Given the description of an element on the screen output the (x, y) to click on. 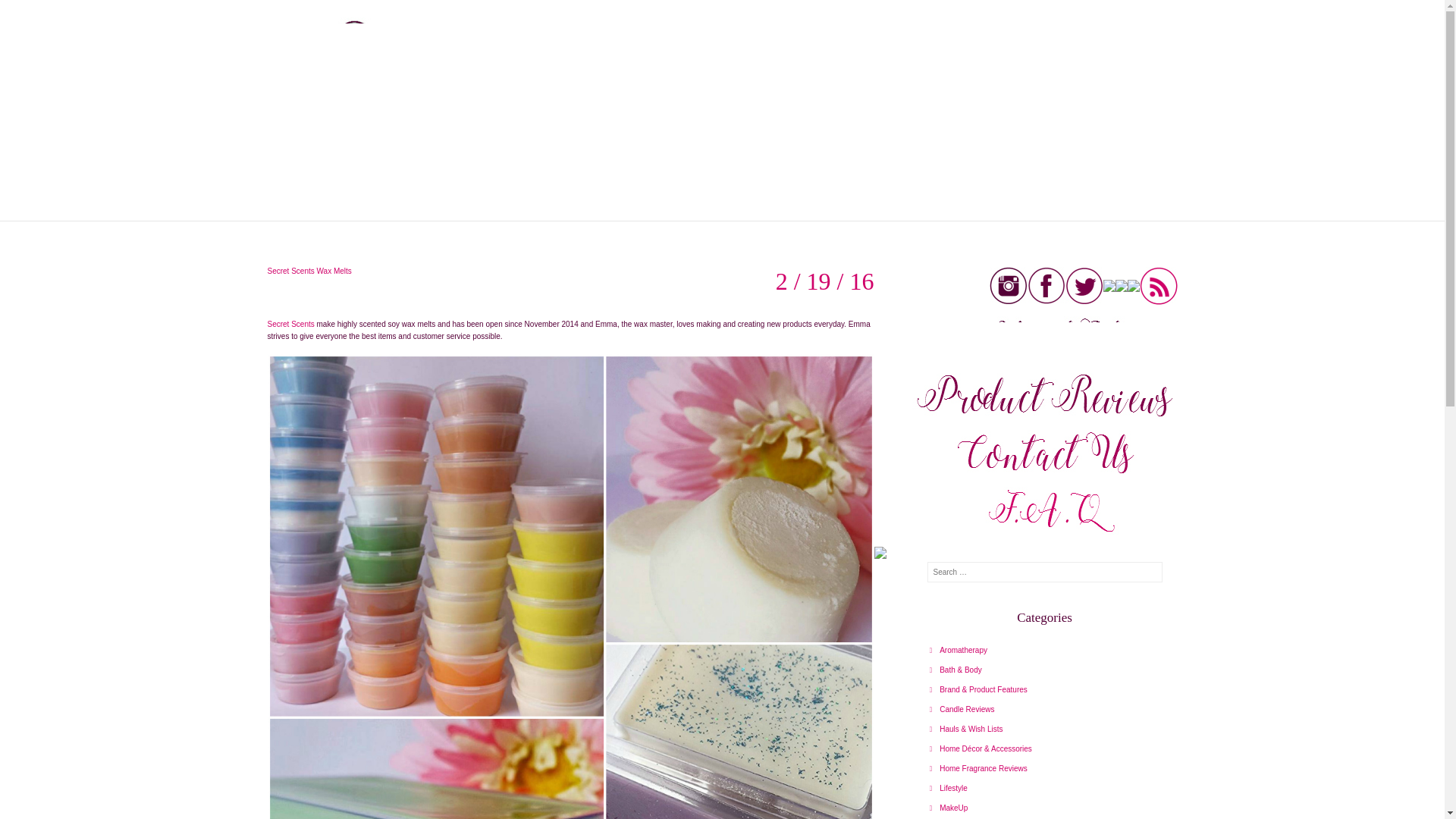
Home Fragrance Reviews (978, 768)
skip to content (260, 229)
Aromatherapy (958, 650)
Search (29, 14)
Secret Scents (290, 324)
MakeUp (949, 807)
Lifestyle (949, 787)
Candle Reviews (962, 709)
